Given the description of an element on the screen output the (x, y) to click on. 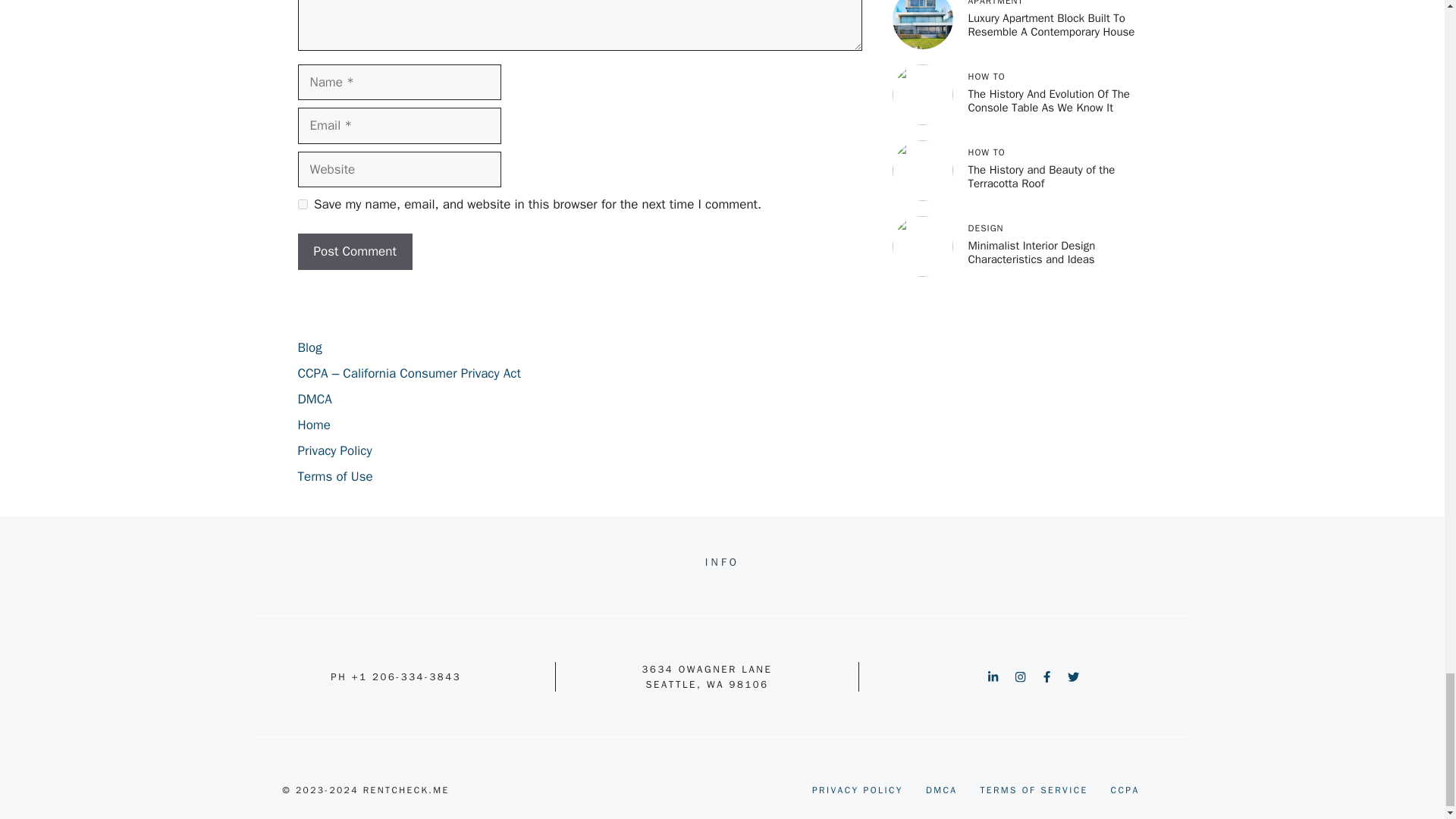
yes (302, 204)
Post Comment (354, 251)
Post Comment (354, 251)
